Given the description of an element on the screen output the (x, y) to click on. 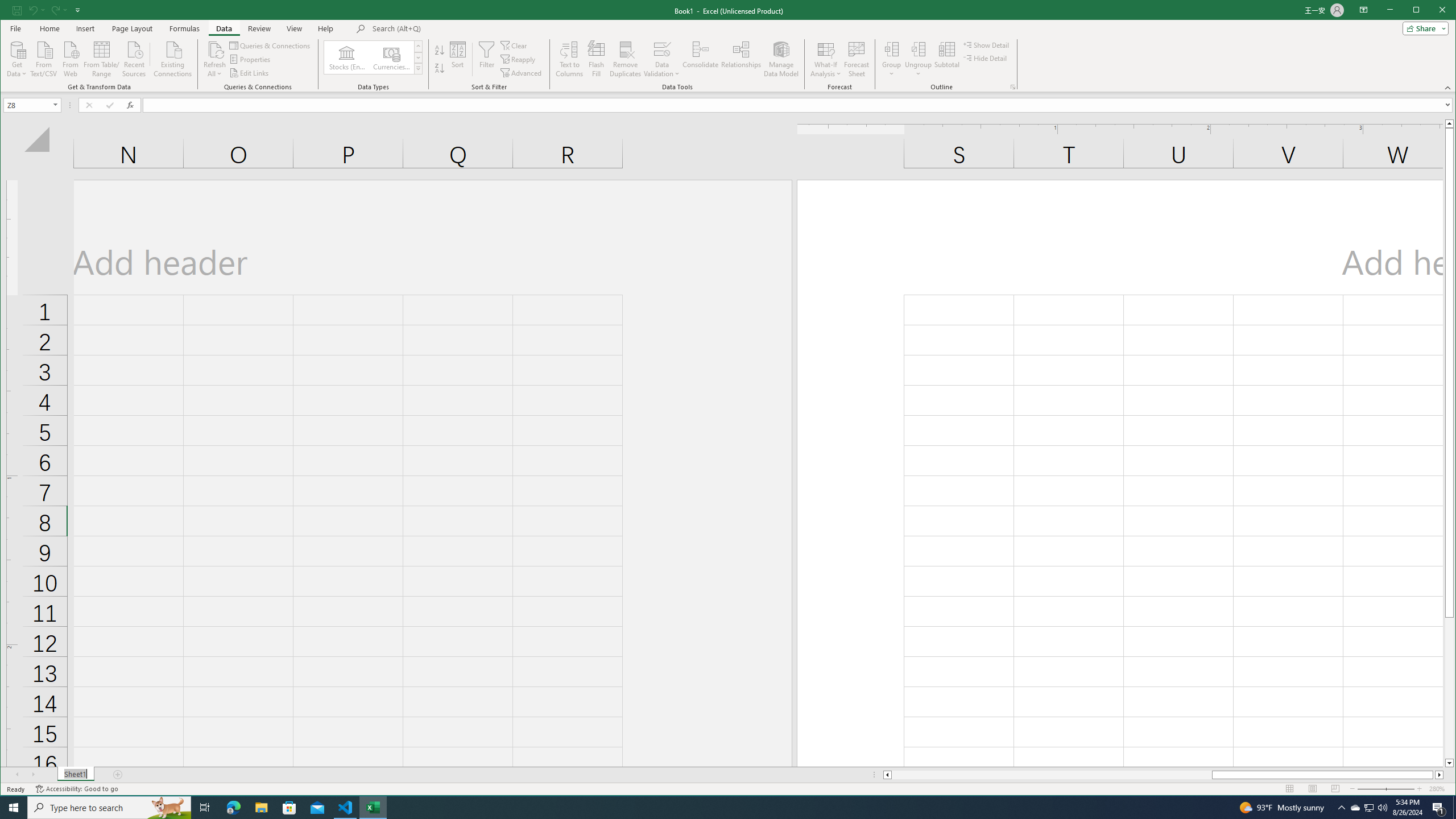
Minimize (1419, 11)
More Options (918, 69)
Microsoft Edge (233, 807)
Customize Quick Access Toolbar (77, 9)
Home (49, 28)
Refresh All (214, 48)
Q2790: 100% (1382, 807)
Edit Links (249, 72)
Action Center, 1 new notification (1439, 807)
Ungroup... (918, 48)
Zoom (1384, 788)
Show Detail (986, 44)
